Given the description of an element on the screen output the (x, y) to click on. 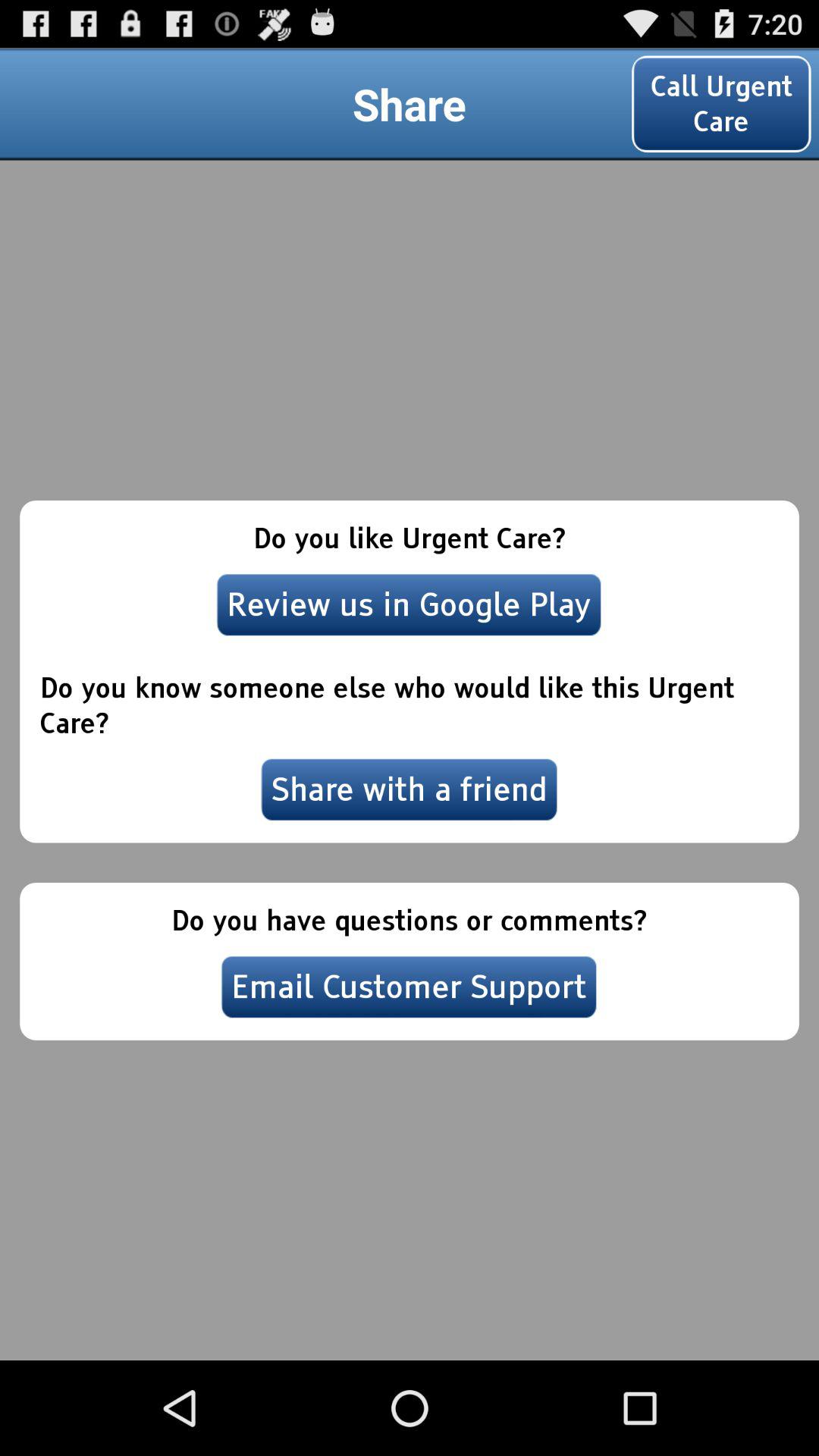
click the icon above the do you have icon (409, 789)
